Given the description of an element on the screen output the (x, y) to click on. 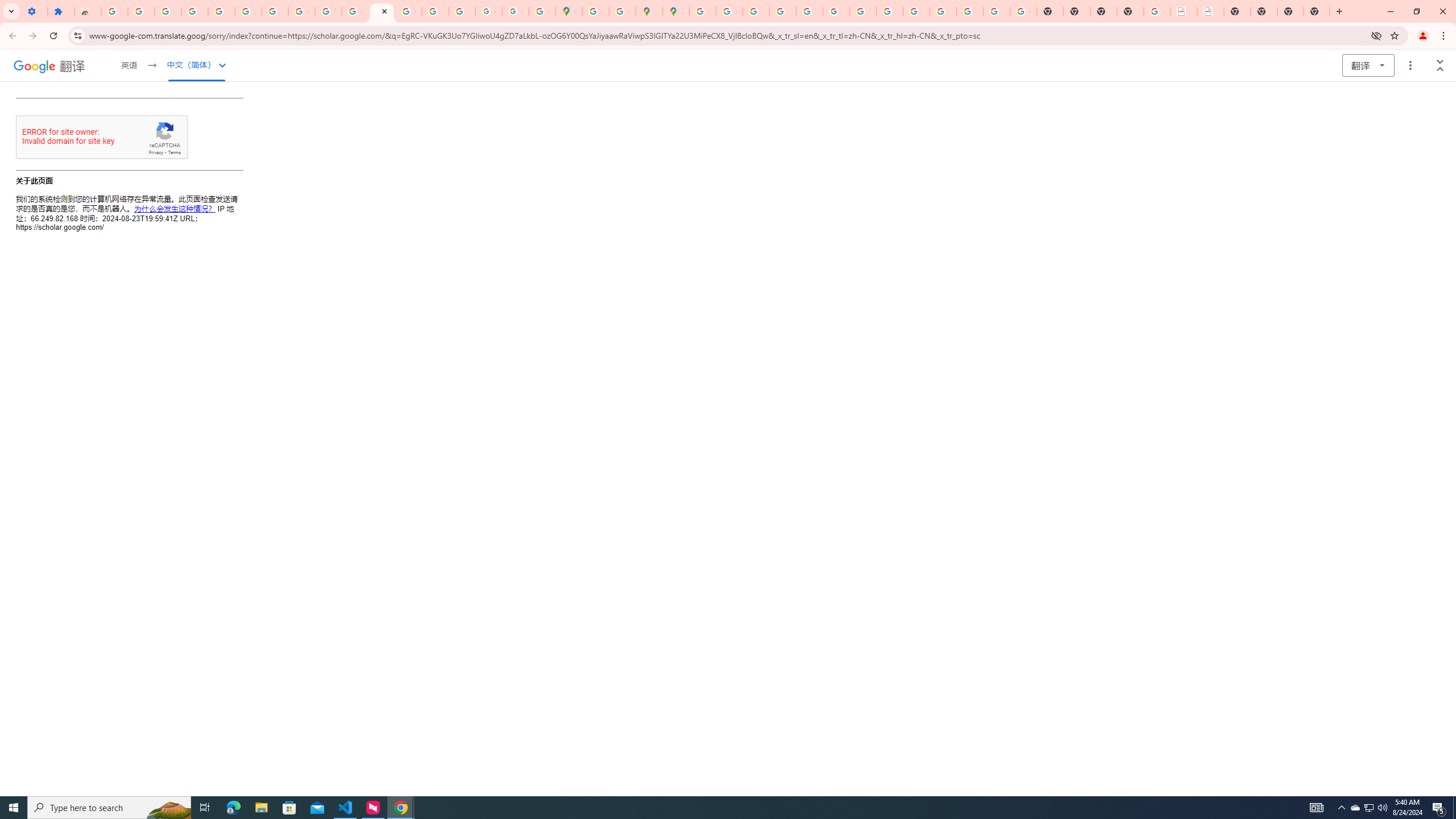
Sign in - Google Accounts (702, 11)
